Given the description of an element on the screen output the (x, y) to click on. 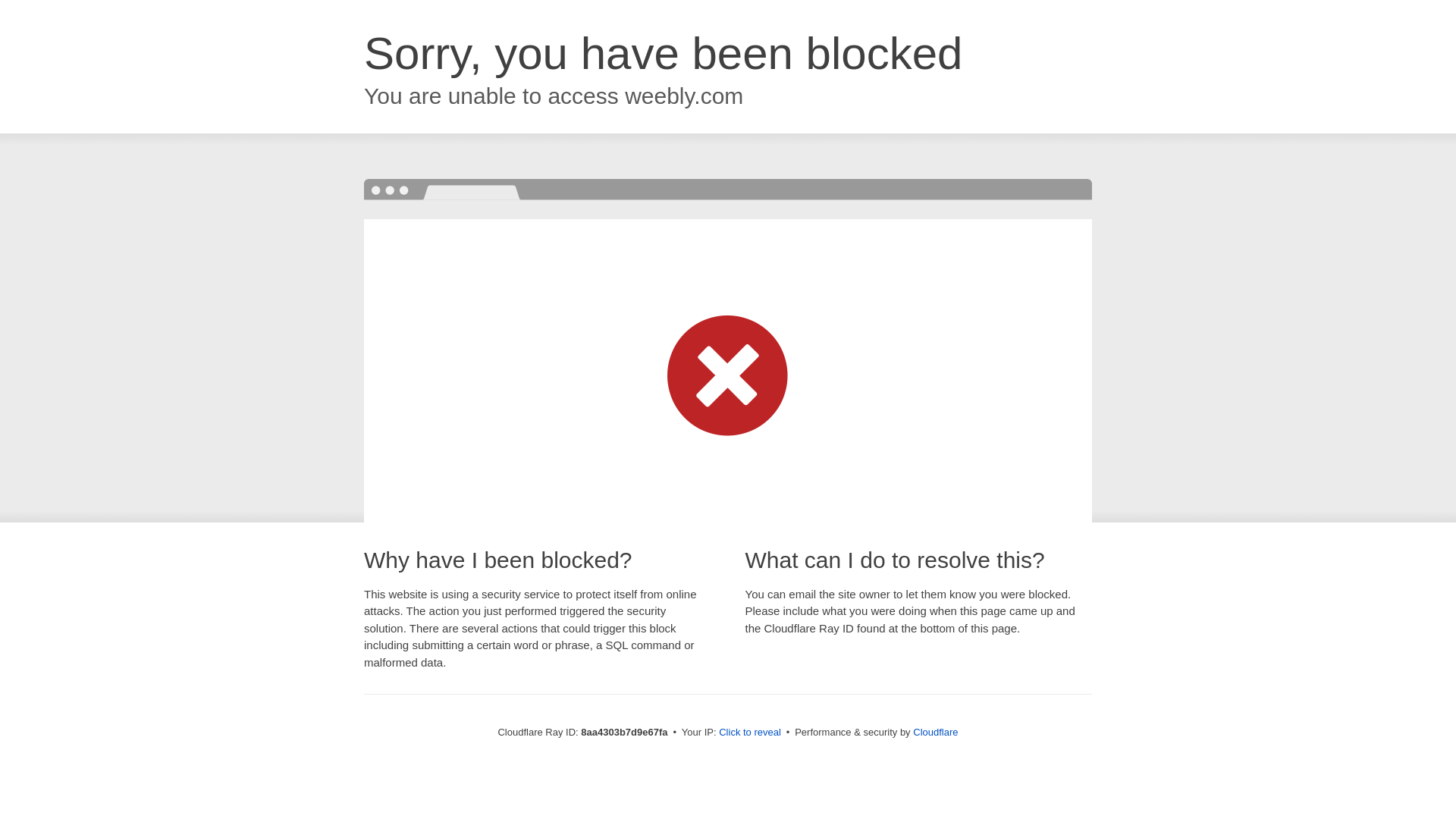
Click to reveal (749, 732)
Cloudflare (935, 731)
